Given the description of an element on the screen output the (x, y) to click on. 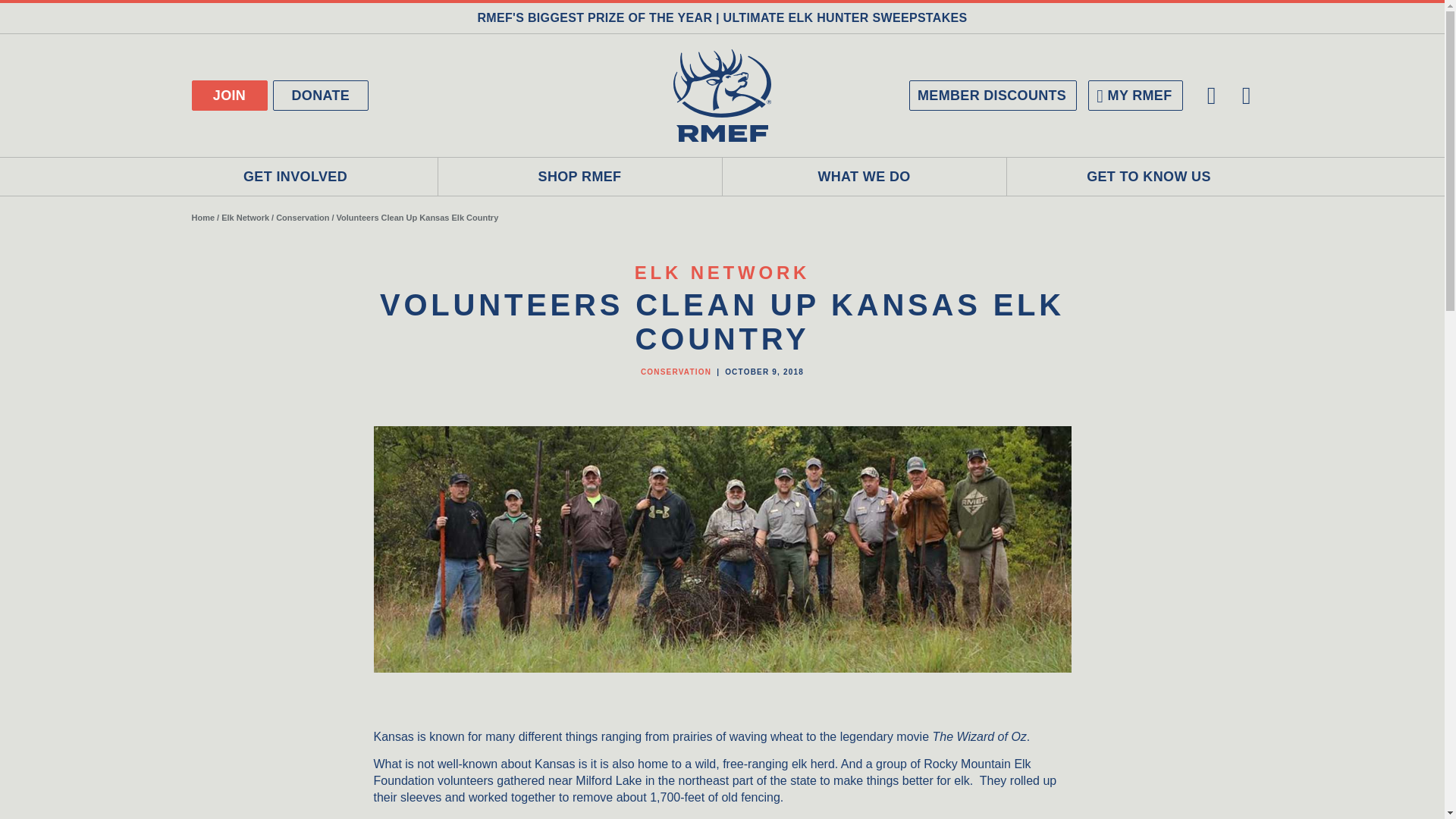
MEMBER DISCOUNTS (992, 95)
SHOP RMEF (580, 176)
WHAT WE DO (864, 176)
DONATE (321, 95)
GET TO KNOW US (1149, 176)
GET INVOLVED (295, 176)
MY RMEF (1134, 95)
JOIN (228, 95)
